Given the description of an element on the screen output the (x, y) to click on. 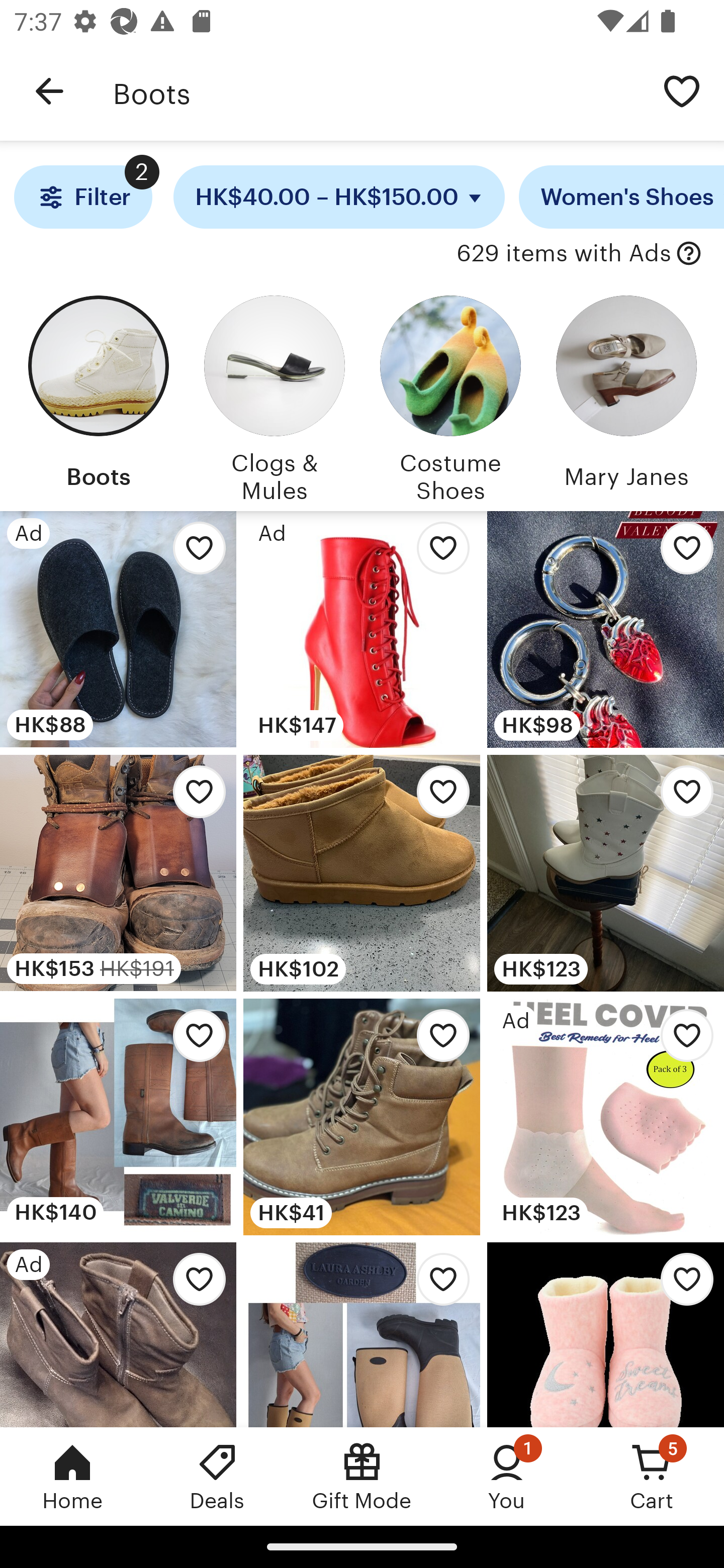
Navigate up (49, 91)
Save search (681, 90)
Boots (375, 91)
Filter (82, 197)
HK$40.00 – HK$150.00 (338, 197)
Women's Shoes (621, 197)
629 items with Ads (563, 253)
with Ads (688, 253)
Boots (97, 395)
Clogs & Mules (273, 395)
Costume Shoes (449, 395)
Mary Janes (625, 395)
Add Katrina Peep Toe-Red to favorites (438, 553)
Add Boot Accessories to favorites (681, 553)
Boots Button Add Boots to favorites HK$102 (361, 872)
Add Boots to favorites (438, 796)
Add kids cowgirl boots to favorites (681, 796)
Boots Button Add Boots to favorites HK$41 (361, 1116)
Add Boots to favorites (438, 1040)
Deals (216, 1475)
Gift Mode (361, 1475)
You, 1 new notification You (506, 1475)
Cart, 5 new notifications Cart (651, 1475)
